Given the description of an element on the screen output the (x, y) to click on. 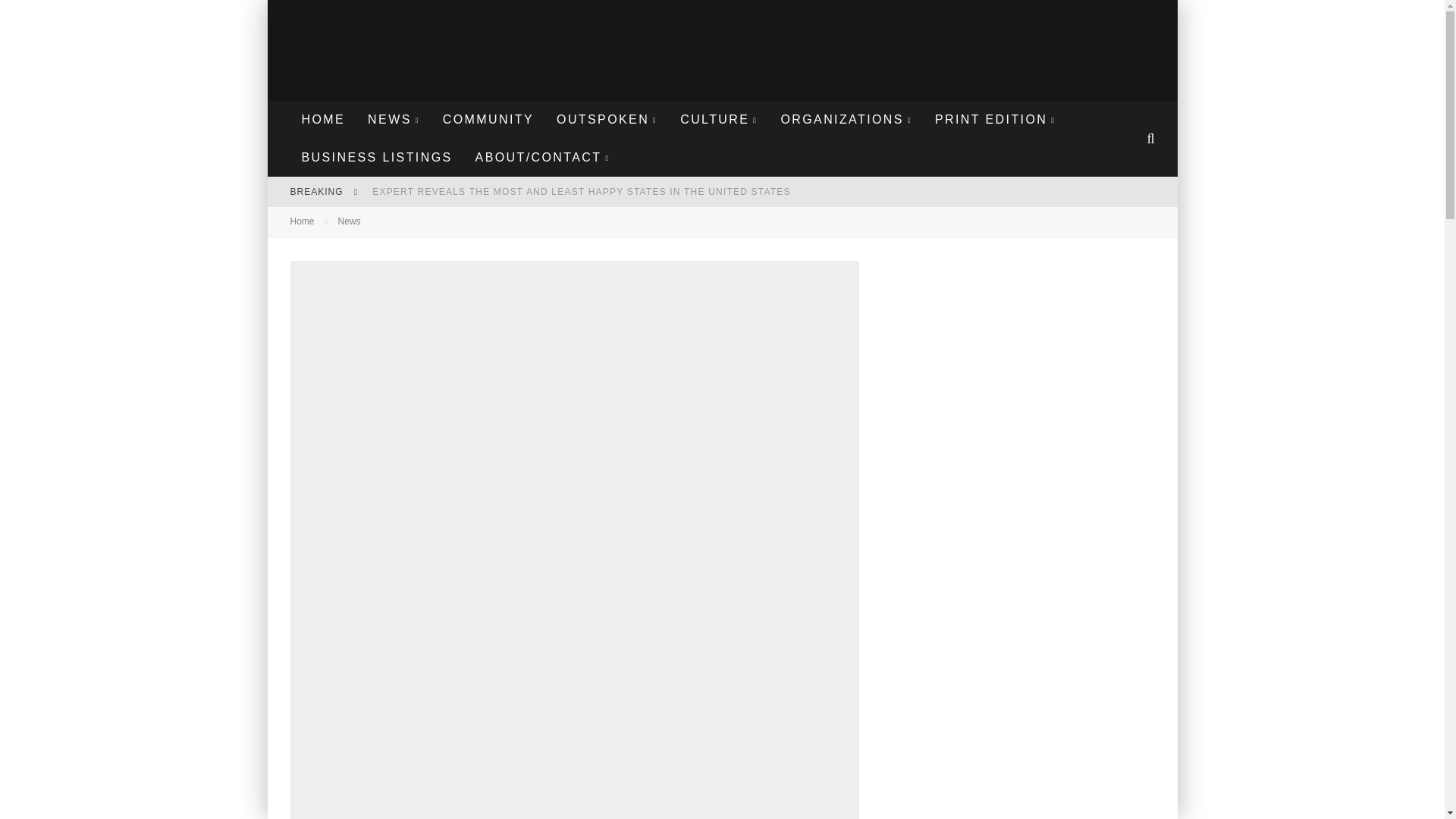
HOME (322, 119)
COMMUNITY (487, 119)
OUTSPOKEN (606, 119)
CULTURE (718, 119)
NEWS (393, 119)
